Given the description of an element on the screen output the (x, y) to click on. 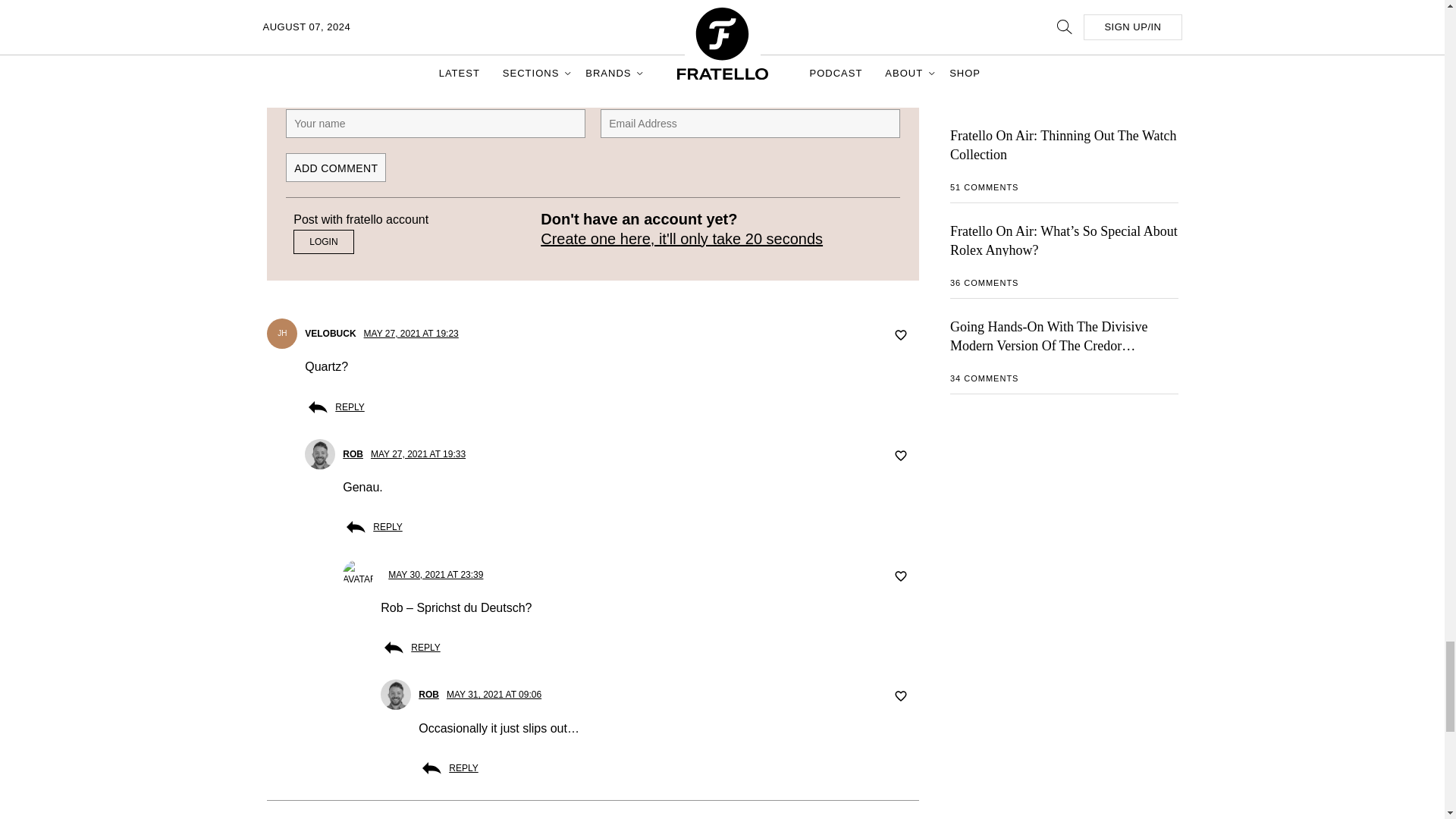
Add comment (335, 167)
